Given the description of an element on the screen output the (x, y) to click on. 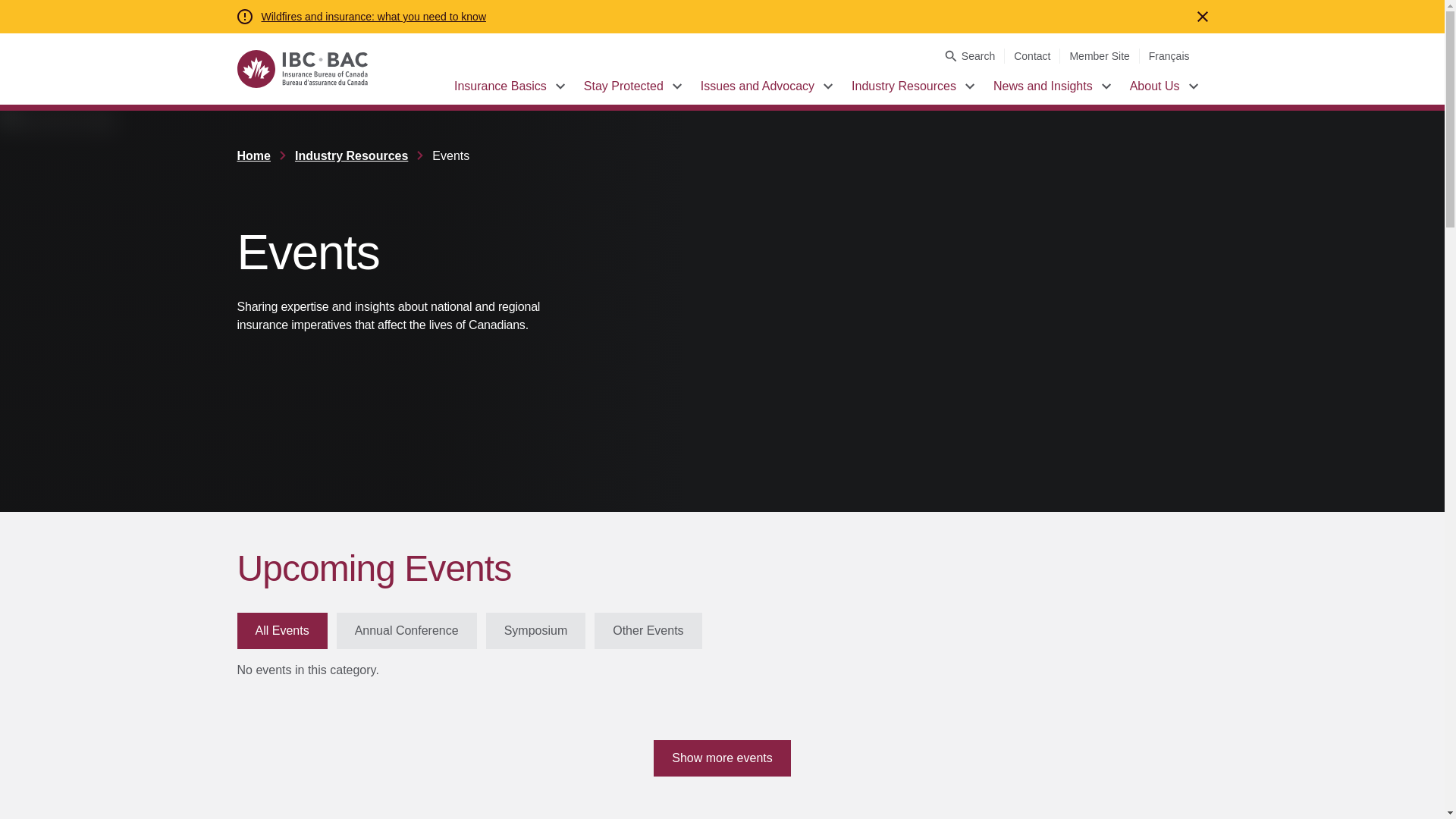
Member Site (1098, 55)
Wildfires and insurance: what you need to know (373, 16)
Insurance Basics (500, 85)
Contact (1031, 55)
Search (969, 55)
